Given the description of an element on the screen output the (x, y) to click on. 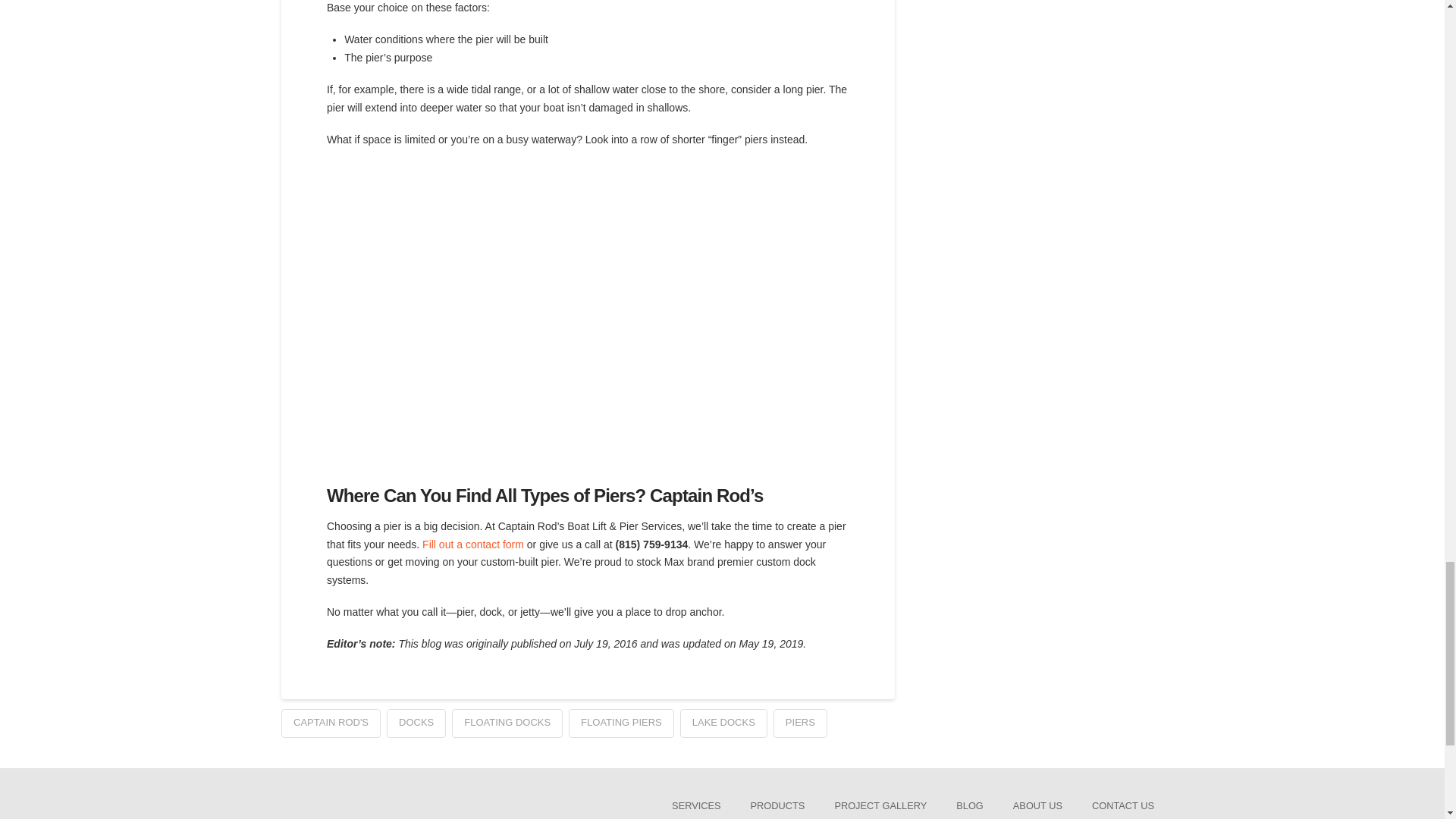
PIERS (800, 723)
CAPTAIN ROD'S (330, 723)
DOCKS (416, 723)
FLOATING PIERS (621, 723)
Fill out a contact form (473, 544)
FLOATING DOCKS (506, 723)
LAKE DOCKS (723, 723)
